Given the description of an element on the screen output the (x, y) to click on. 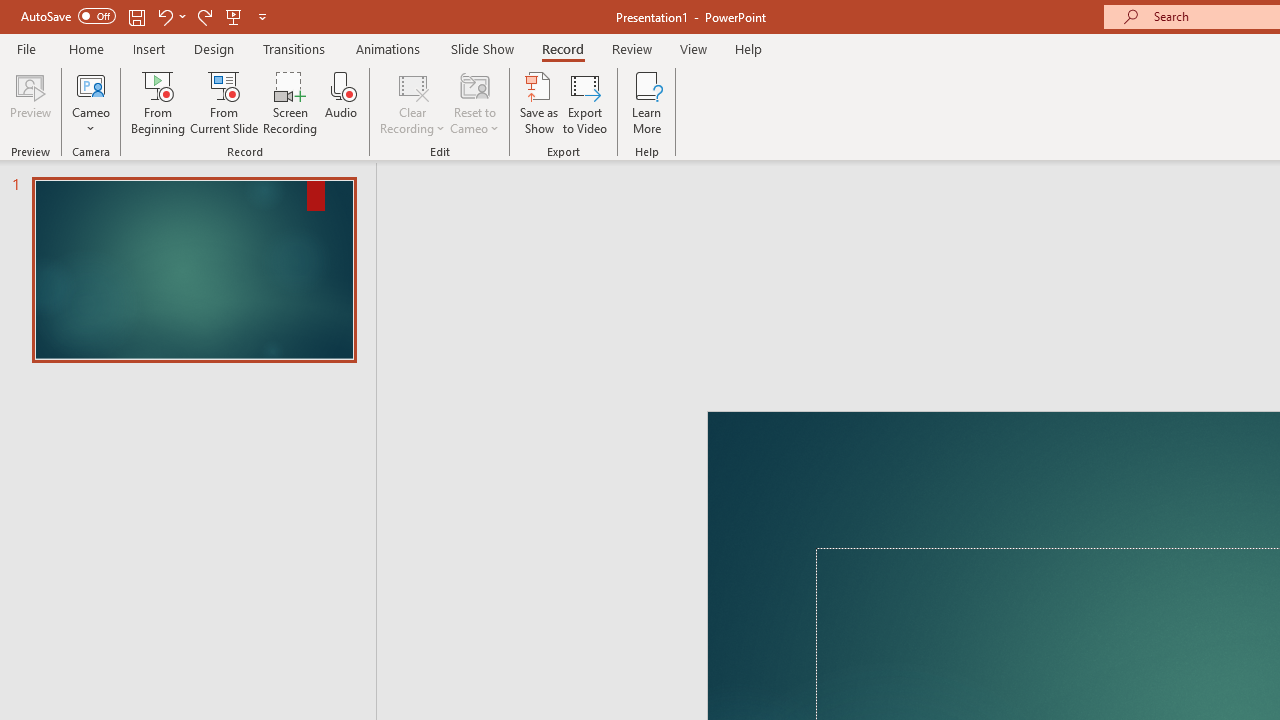
Clear Recording (412, 102)
Learn More (646, 102)
Export to Video (585, 102)
